Given the description of an element on the screen output the (x, y) to click on. 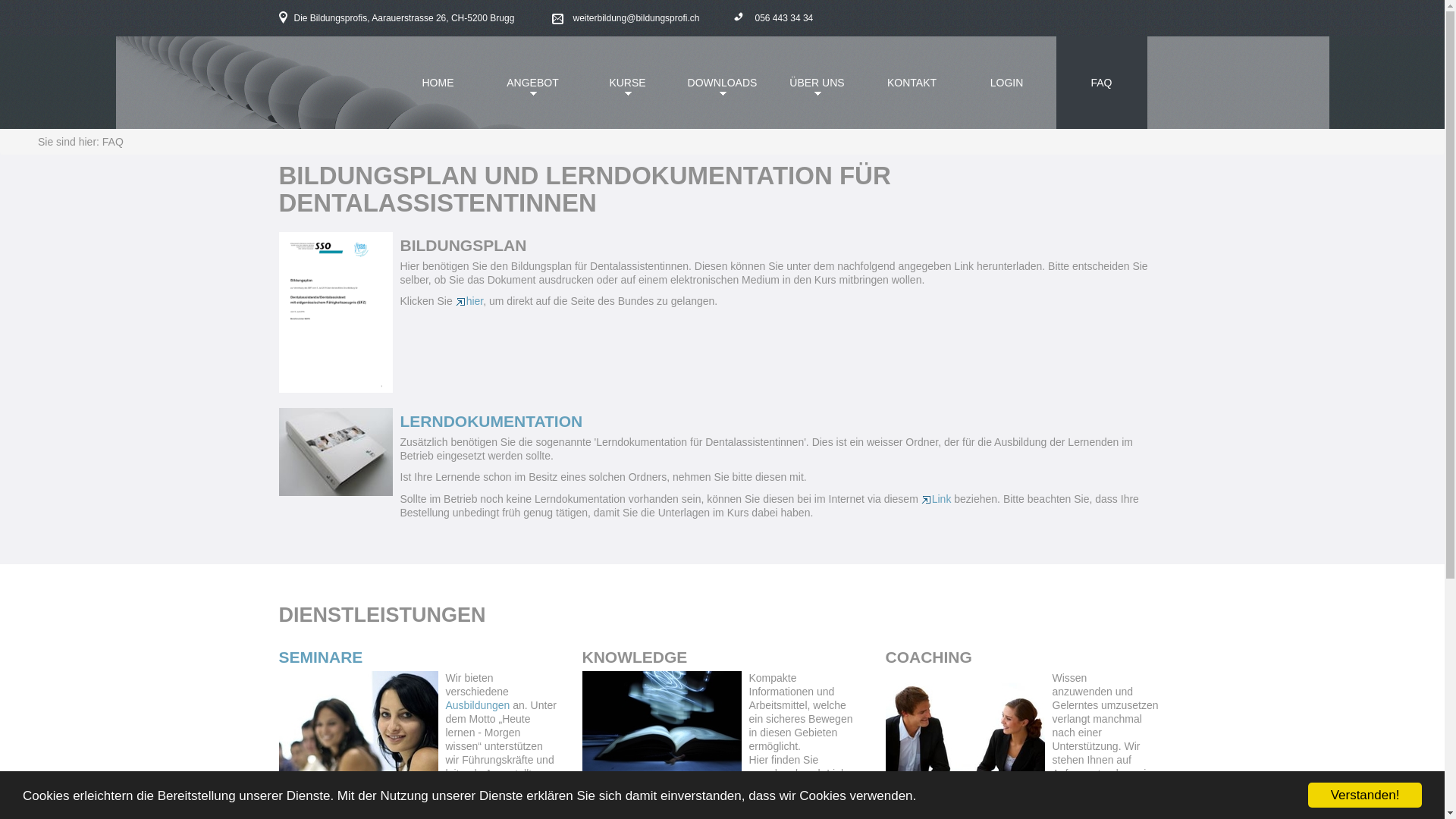
FAQ Element type: text (1100, 82)
Verstanden! Element type: text (1364, 794)
LERNDOKUMENTATION Element type: text (491, 420)
Link Element type: text (936, 498)
LOGIN Element type: text (1006, 82)
Ausbildungen Element type: text (479, 705)
SEMINARE Element type: text (321, 656)
KONTAKT Element type: text (911, 82)
HOME Element type: text (437, 82)
hier Element type: text (469, 300)
weiterbildung@bildungsprofi.ch Element type: text (625, 18)
